Given the description of an element on the screen output the (x, y) to click on. 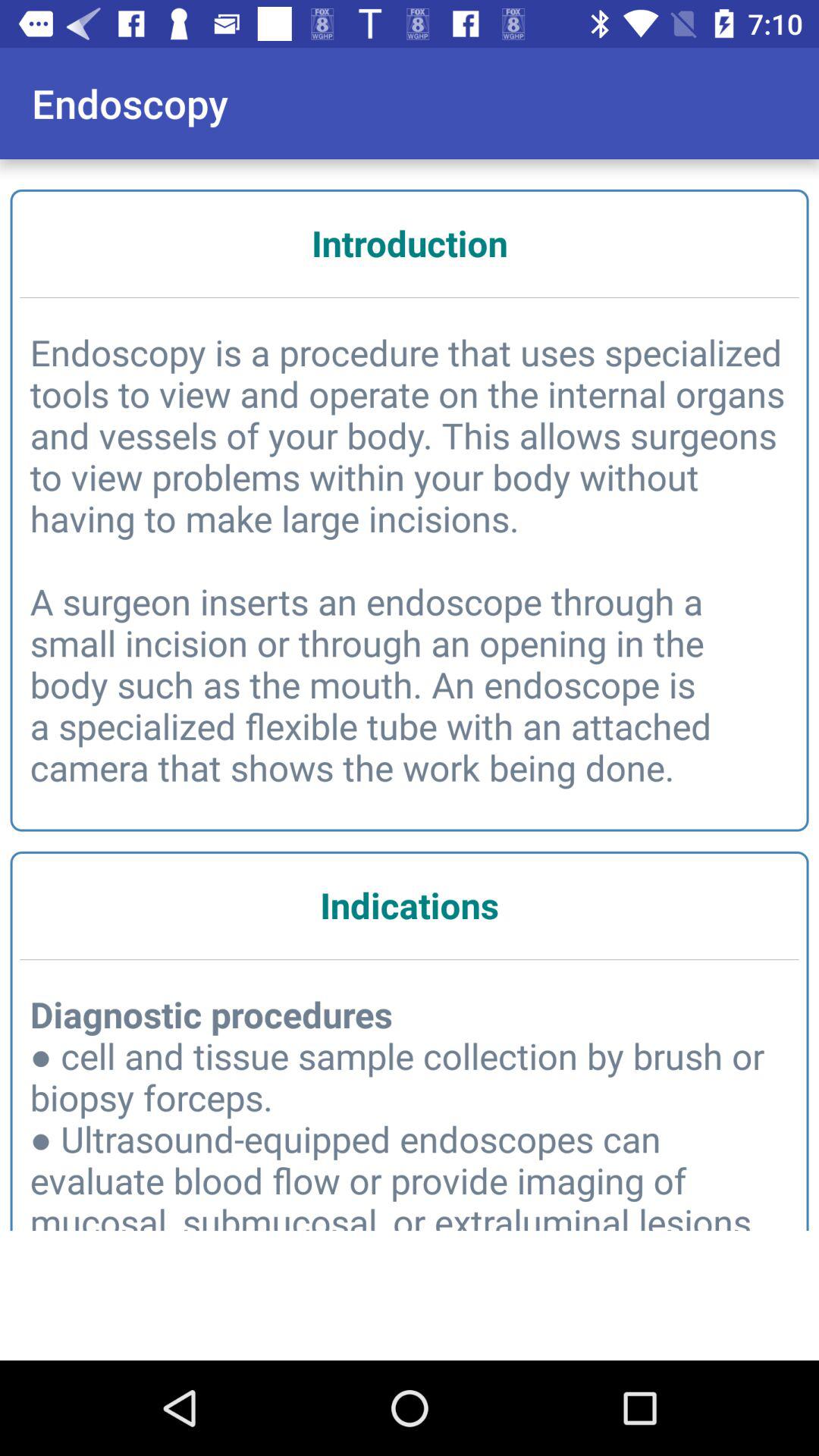
select item below the endoscopy icon (409, 242)
